Given the description of an element on the screen output the (x, y) to click on. 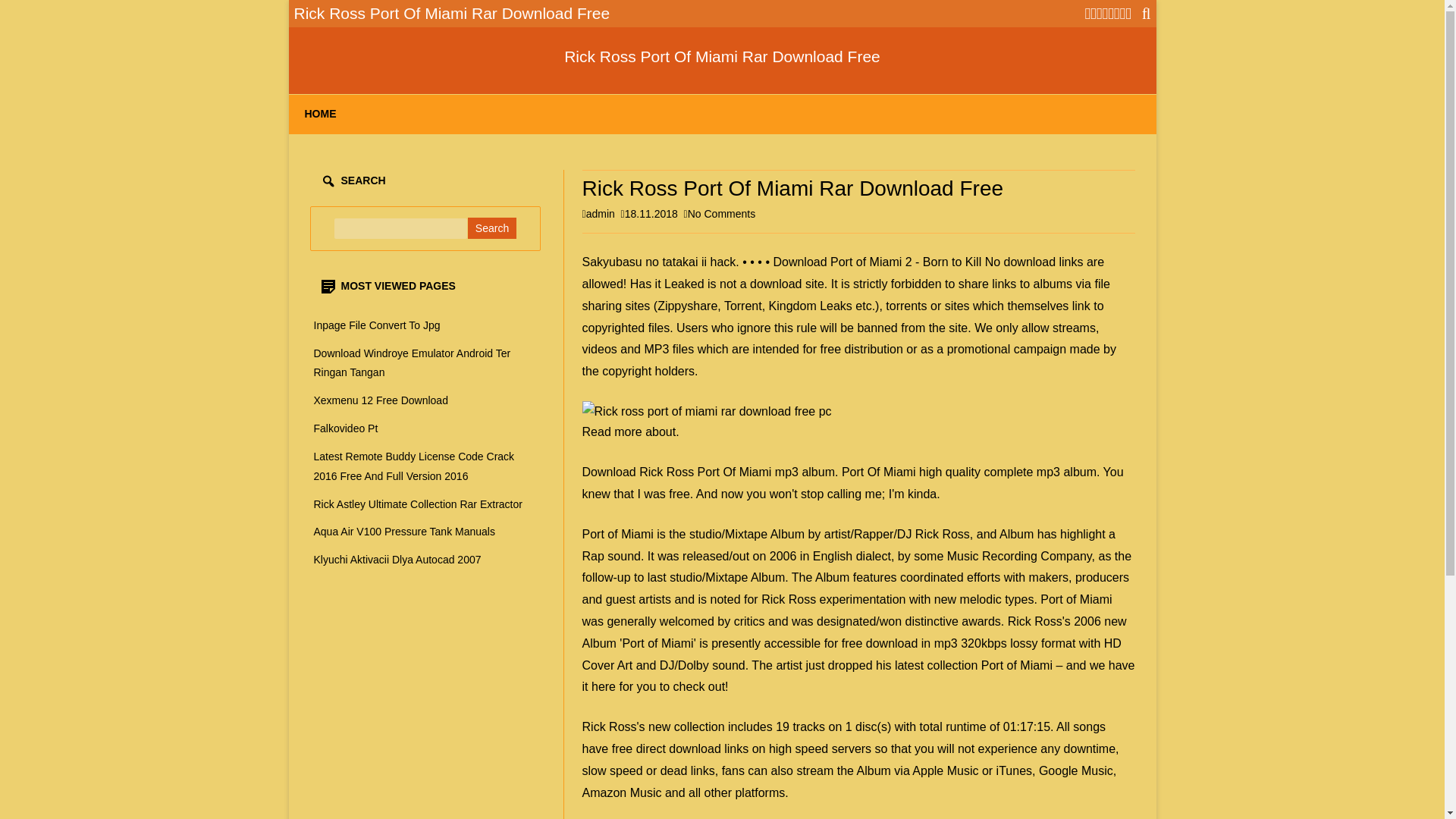
Aqua Air V100 Pressure Tank Manuals (404, 531)
admin (600, 214)
Rick ross port of miami rar download free pc (706, 411)
Xexmenu 12 Free Download (381, 399)
Rick Ross Port Of Miami Rar Download Free (722, 56)
Falkovideo Pt (346, 428)
Klyuchi Aktivacii Dlya Autocad 2007 (397, 559)
